Given the description of an element on the screen output the (x, y) to click on. 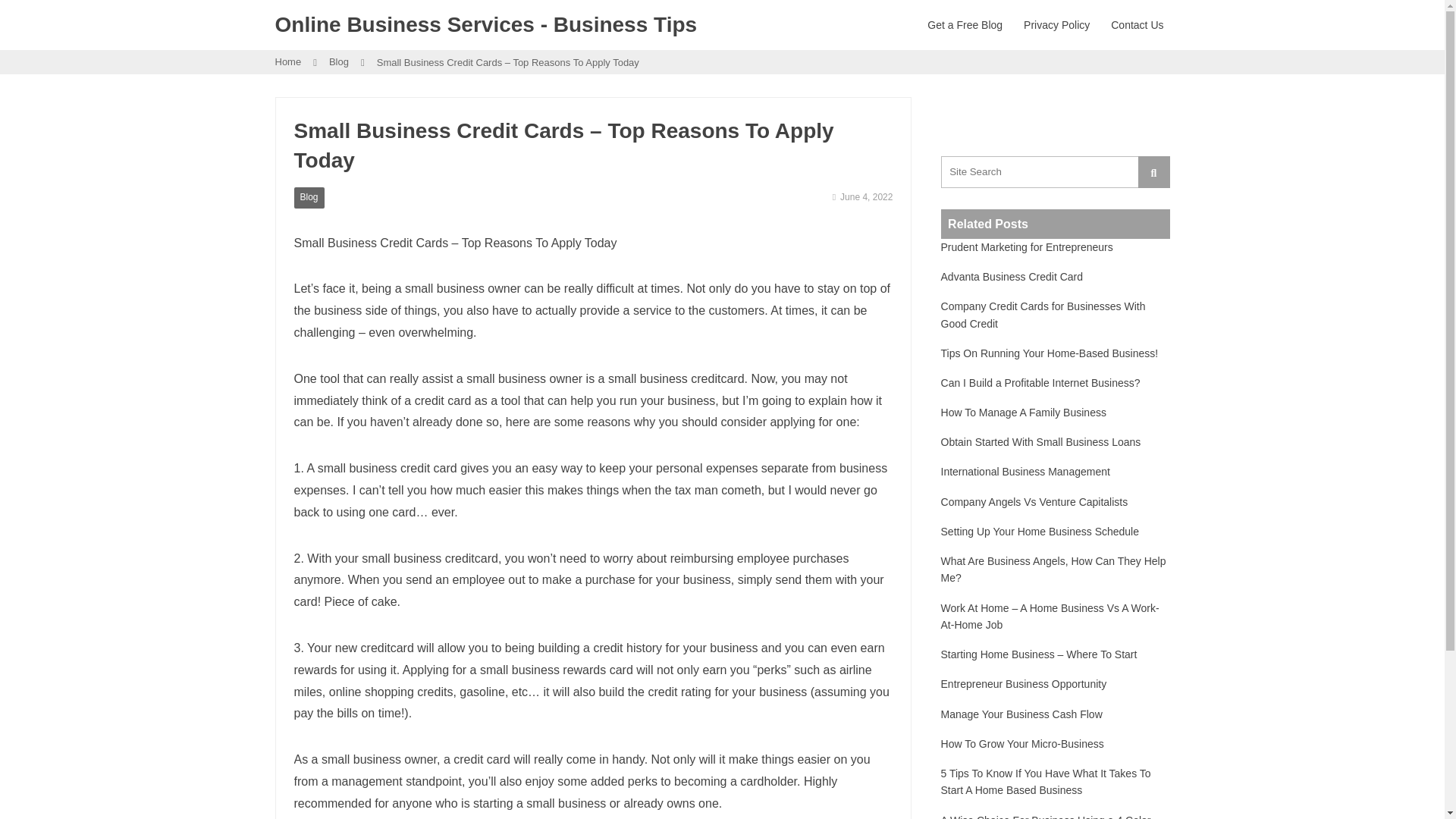
Company Angels Vs Venture Capitalists (1034, 501)
Blog (309, 197)
Setting Up Your Home Business Schedule (1040, 531)
Blog (339, 62)
Entrepreneur Business Opportunity (1023, 683)
How To Grow Your Micro-Business (1021, 743)
Can I Build a Profitable Internet Business? (1040, 382)
What Are Business Angels, How Can They Help Me? (1055, 569)
Advanta Business Credit Card (1011, 276)
